Given the description of an element on the screen output the (x, y) to click on. 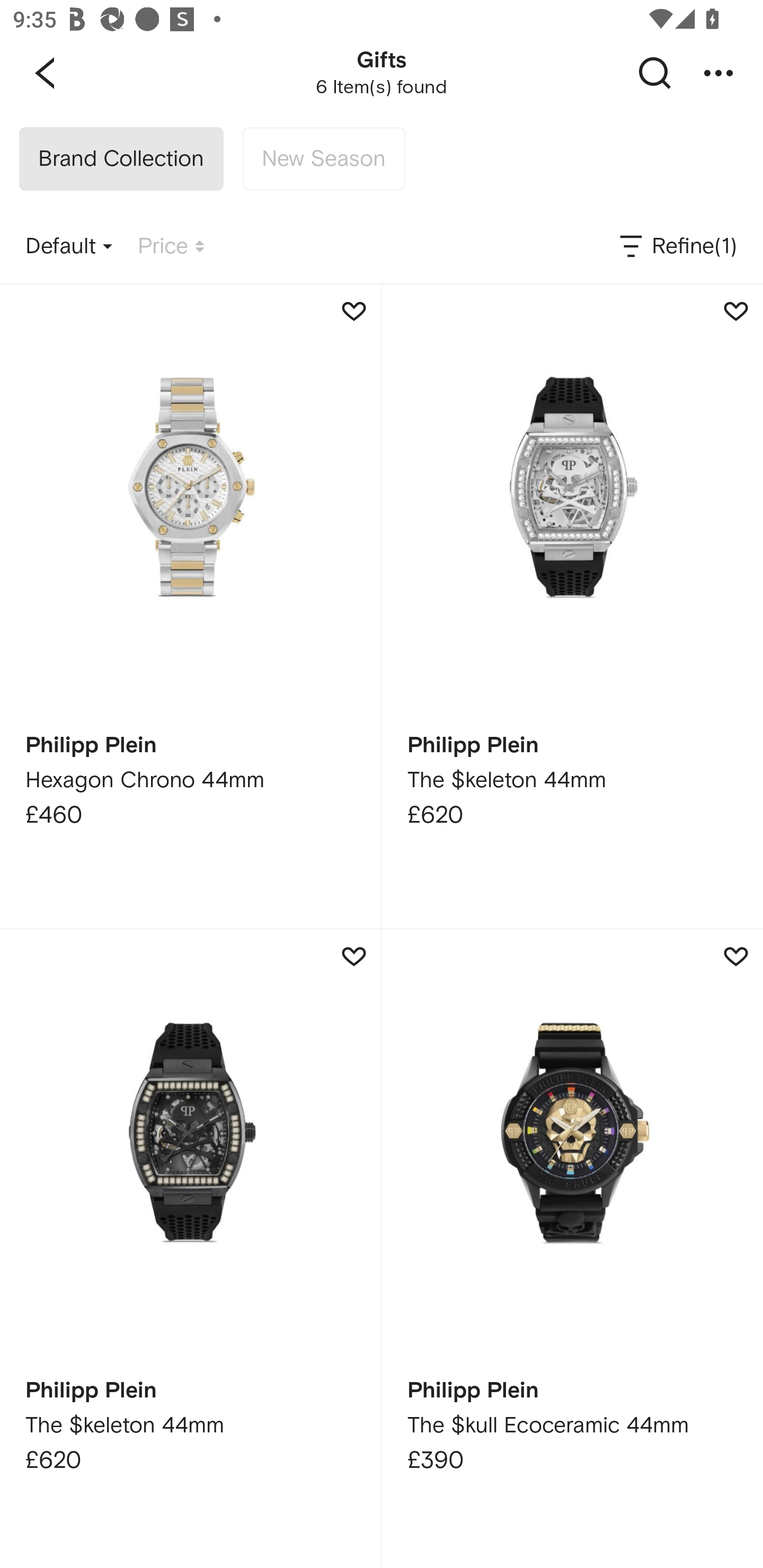
Brand Collection (121, 158)
New Season (323, 158)
Default (68, 246)
Price (171, 246)
Refine(1) (677, 246)
Philipp Plein Hexagon Chrono 44mm £460 (190, 605)
Philipp Plein The $keleton 44mm £620 (572, 605)
Philipp Plein The $keleton 44mm £620 (190, 1248)
Philipp Plein The $kull Ecoceramic 44mm £390 (572, 1248)
